Given the description of an element on the screen output the (x, y) to click on. 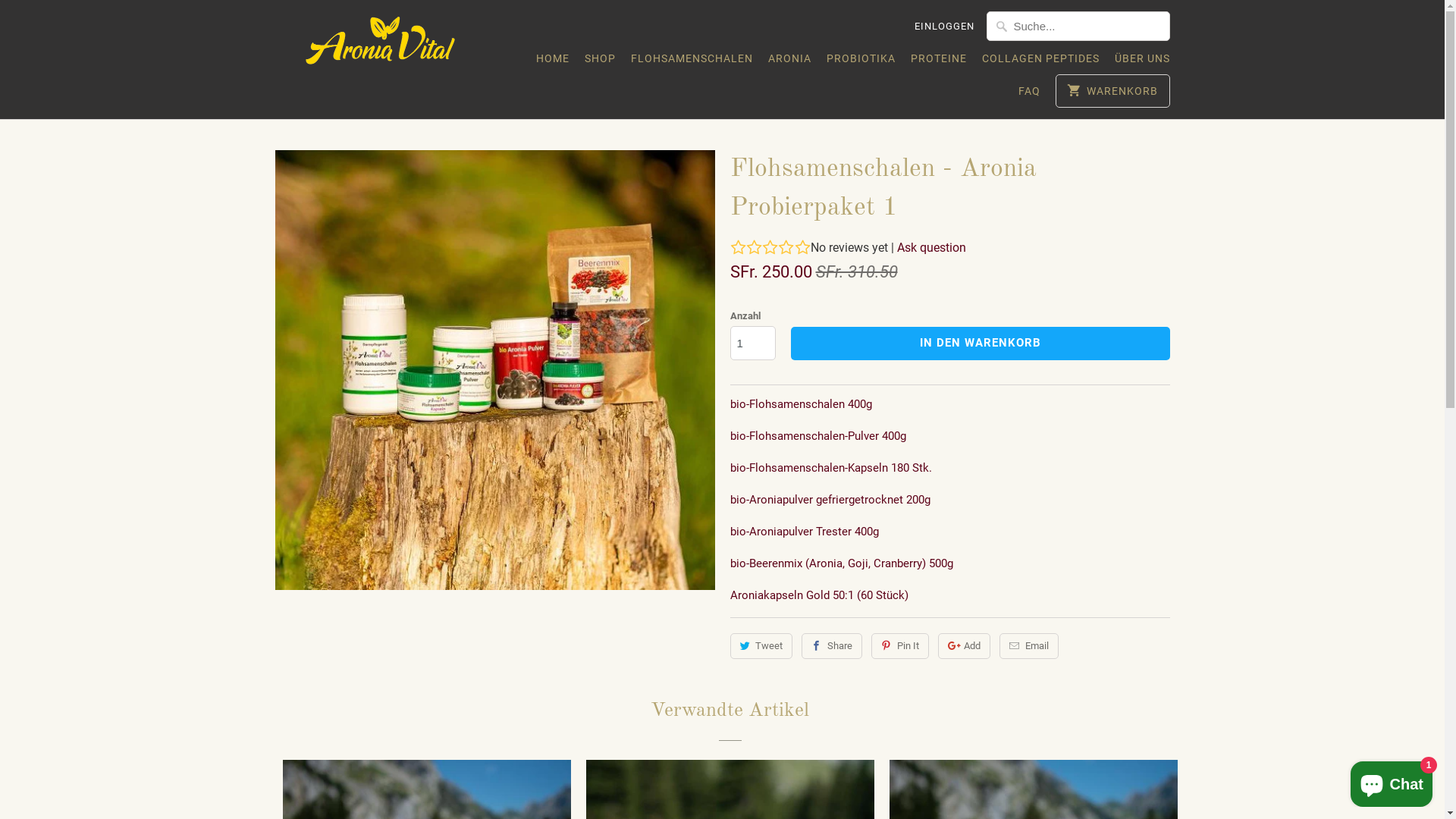
PROBIOTIKA Element type: text (860, 62)
SHOP Element type: text (599, 62)
Ask question Element type: text (931, 247)
COLLAGEN PEPTIDES Element type: text (1039, 62)
IN DEN WARENKORB Element type: text (979, 343)
bio-Flohsamenschalen-Pulver 400g Element type: text (817, 435)
bio-Flohsamenschalen-Kapseln 180 Stk. Element type: text (830, 467)
bio-Flohsamenschalen 400g Element type: text (800, 404)
HOME Element type: text (551, 62)
Email Element type: text (1028, 645)
EINLOGGEN Element type: text (944, 26)
Share Element type: text (831, 645)
FLOHSAMENSCHALEN Element type: text (691, 62)
ARONIA Element type: text (788, 62)
Onlineshop-Chat von Shopify Element type: hover (1391, 780)
Add Element type: text (964, 645)
WARENKORB Element type: text (1112, 90)
PROTEINE Element type: text (938, 62)
bio-Aroniapulver Trester 400g Element type: text (803, 531)
Tweet Element type: text (760, 645)
FAQ Element type: text (1029, 94)
Aronia Vital Element type: hover (380, 45)
Pin It Element type: text (899, 645)
bio-Aroniapulver gefriergetrocknet 200g Element type: text (829, 499)
bio-Beerenmix (Aronia, Goji, Cranberry) 500g Element type: text (840, 563)
